Given the description of an element on the screen output the (x, y) to click on. 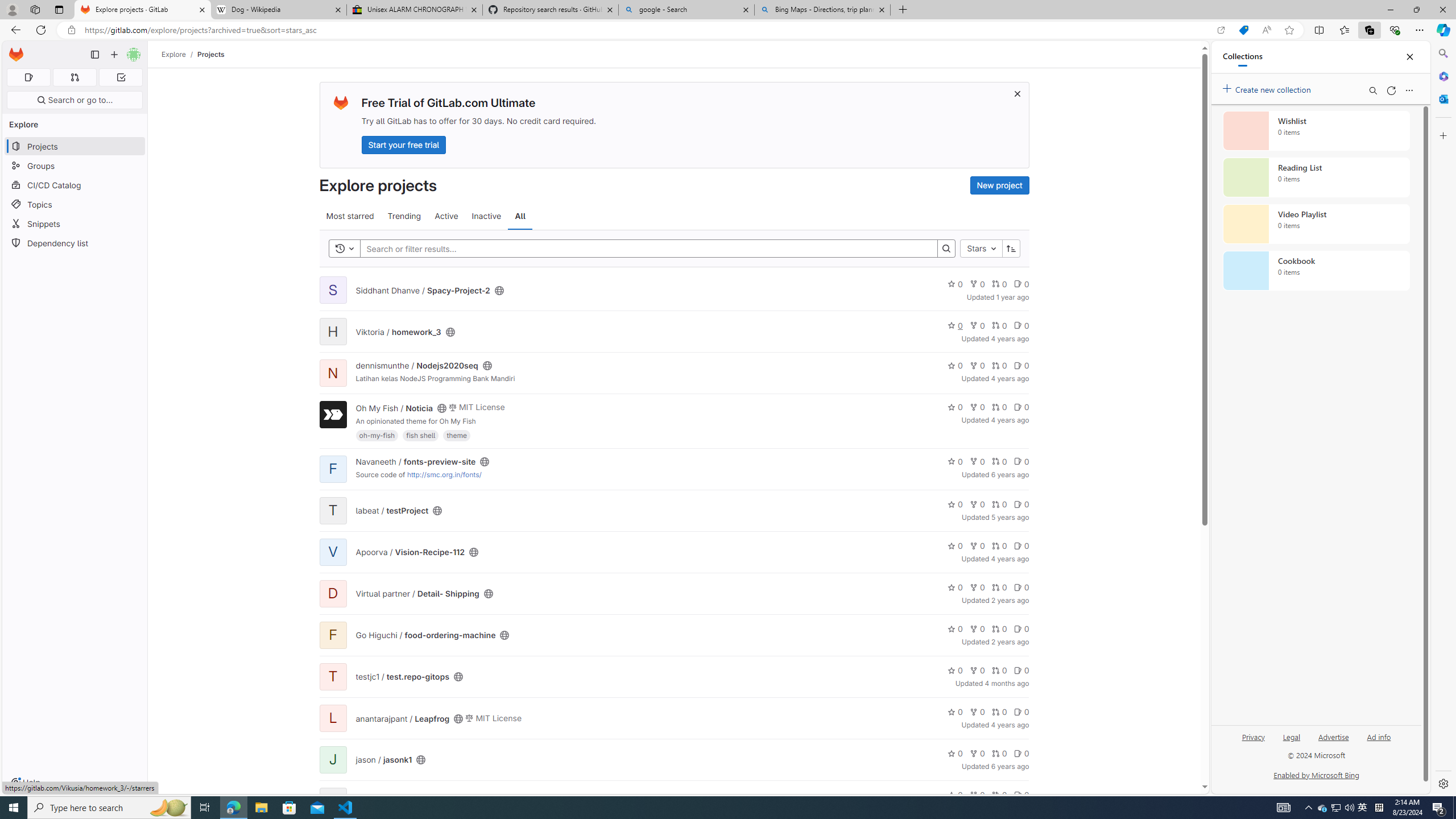
Dependency list (74, 242)
Reading List collection, 0 items (1316, 177)
oh-my-fish (376, 434)
testjc1 / test.repo-gitops (402, 676)
jason / jasonk1 (383, 759)
N (332, 373)
To-Do list 0 (120, 76)
SSiddhant Dhanve / Spacy-Project-20000Updated 1 year ago (673, 290)
V (332, 551)
HViktoria / homework_30000Updated 4 years ago (673, 331)
theme (457, 434)
S (332, 290)
